Given the description of an element on the screen output the (x, y) to click on. 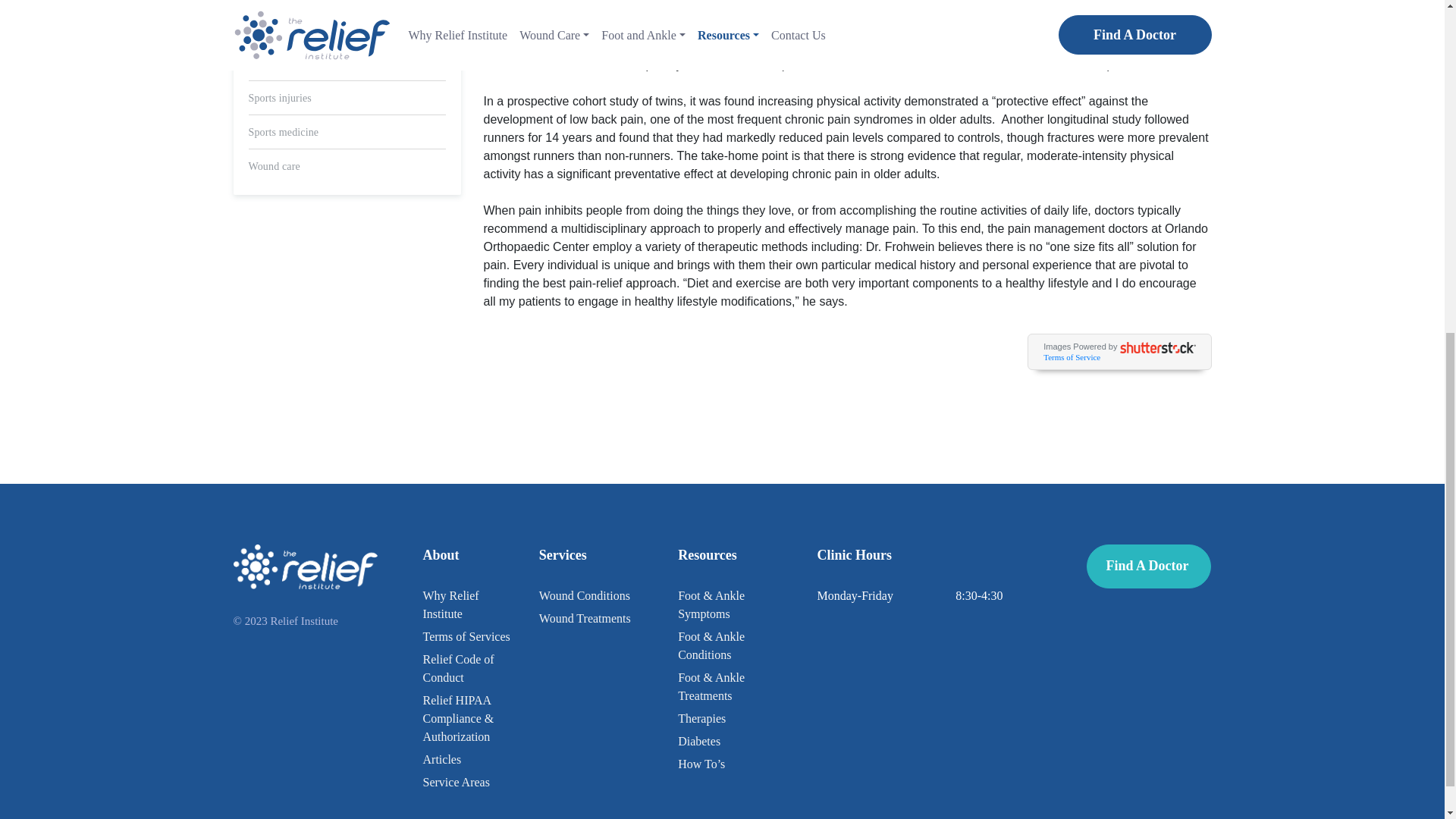
Rheumatoid arthritis (292, 63)
Orthopedics (274, 0)
Sports medicine (283, 132)
Psoriatic arthritis (285, 30)
Sports injuries (279, 98)
Wound care (273, 165)
